Given the description of an element on the screen output the (x, y) to click on. 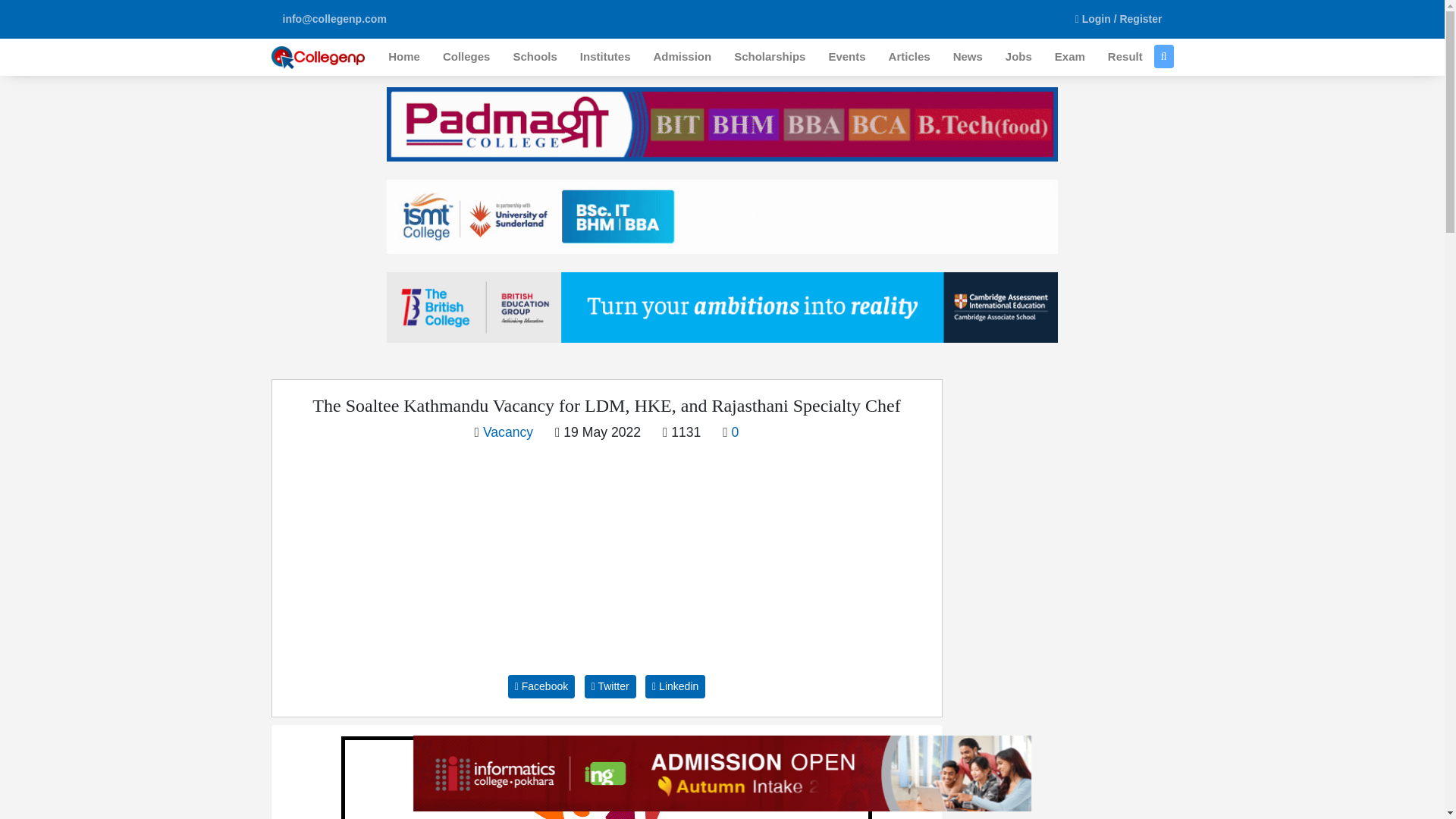
Admission (682, 57)
Linkedin (674, 686)
Scholarships (769, 57)
The Soaltee Kathmandu Vacancy (606, 777)
Vacancy (507, 432)
Articles (909, 57)
Institutes (605, 57)
Schools (533, 57)
Twitter (610, 686)
Jobs (1018, 57)
News (968, 57)
Exam (1069, 57)
Events (846, 57)
Facebook (541, 686)
Result (1125, 57)
